Given the description of an element on the screen output the (x, y) to click on. 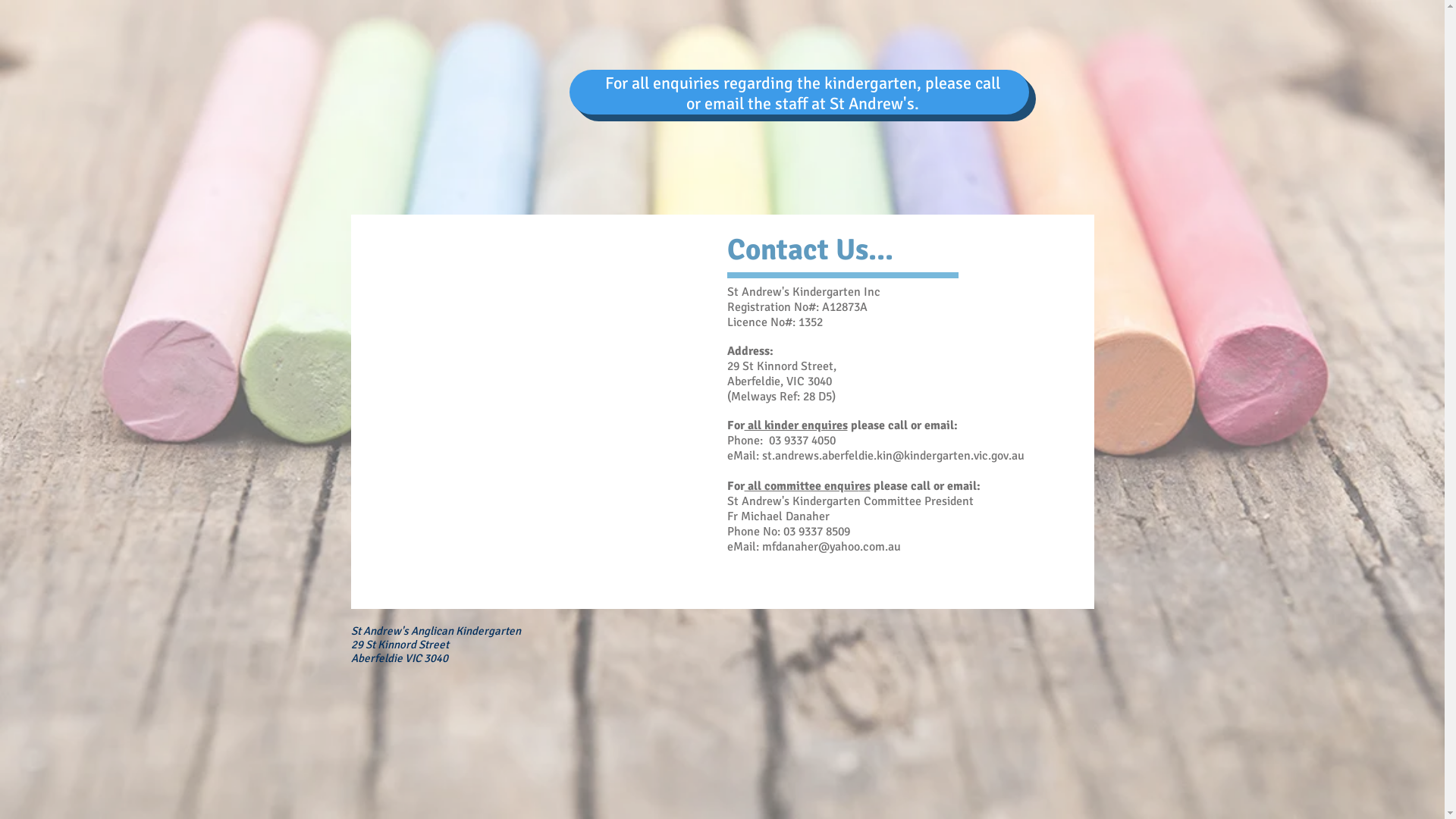
Google Maps Element type: hover (530, 437)
st.andrews.aberfeldie.kin@kindergarten.vic.gov.au Element type: text (892, 455)
mfdanaher@yahoo.com.au Element type: text (830, 546)
